Given the description of an element on the screen output the (x, y) to click on. 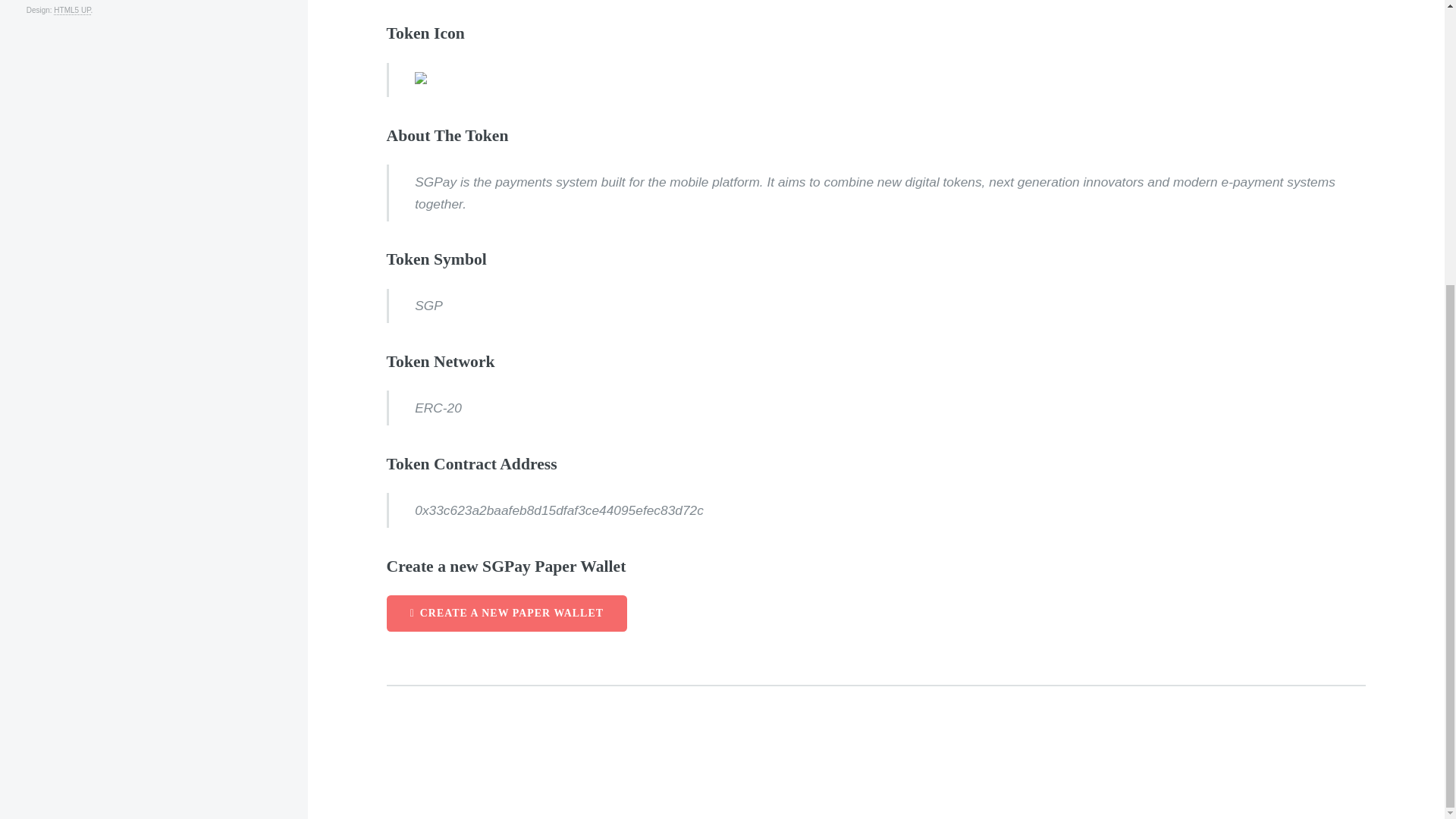
CREATE A NEW PAPER WALLET (507, 613)
HTML5 UP (71, 10)
